Given the description of an element on the screen output the (x, y) to click on. 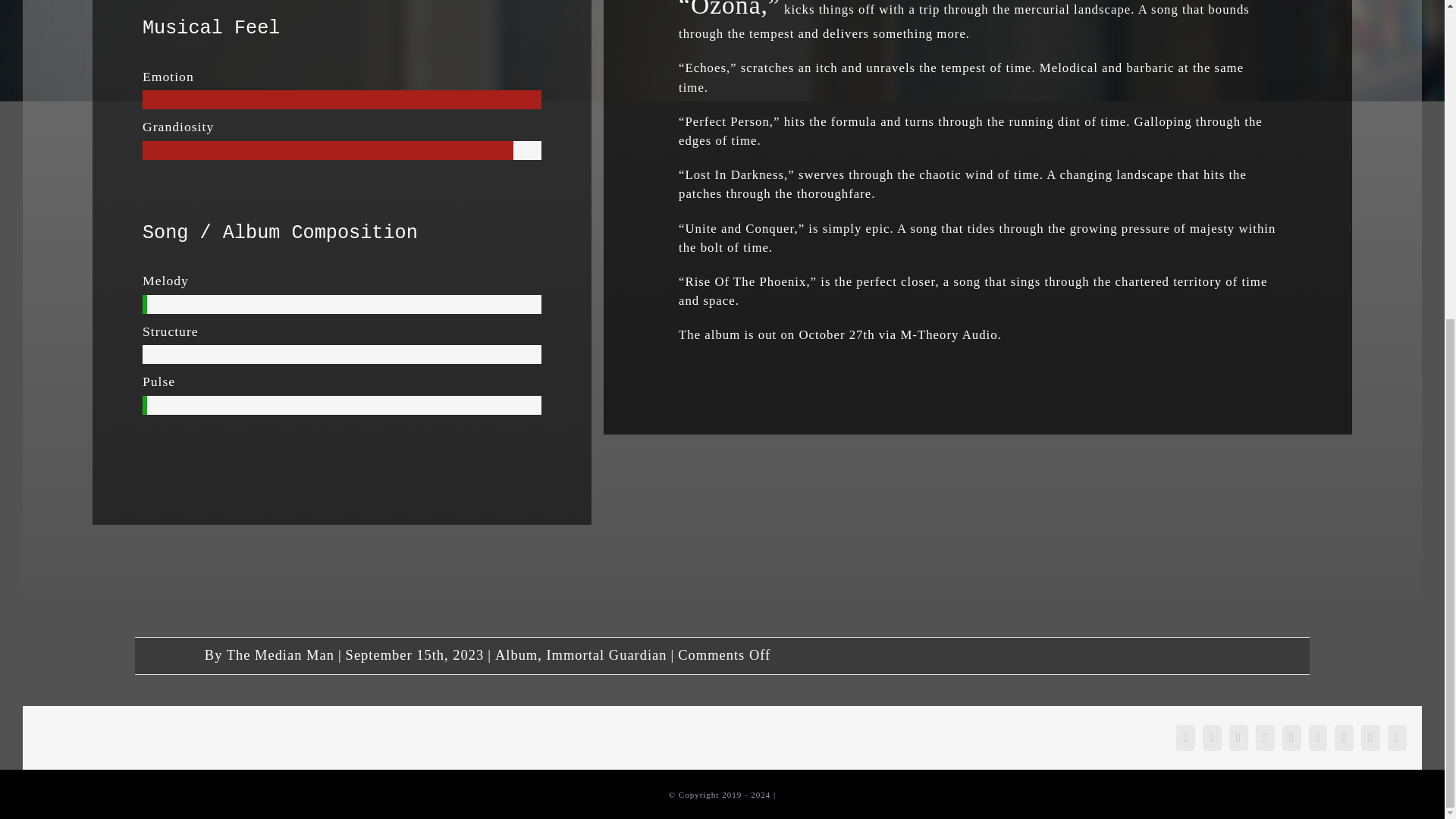
The Median Man (280, 654)
Posts by The Median Man (280, 654)
Album (516, 654)
Immortal Guardian (606, 654)
